Given the description of an element on the screen output the (x, y) to click on. 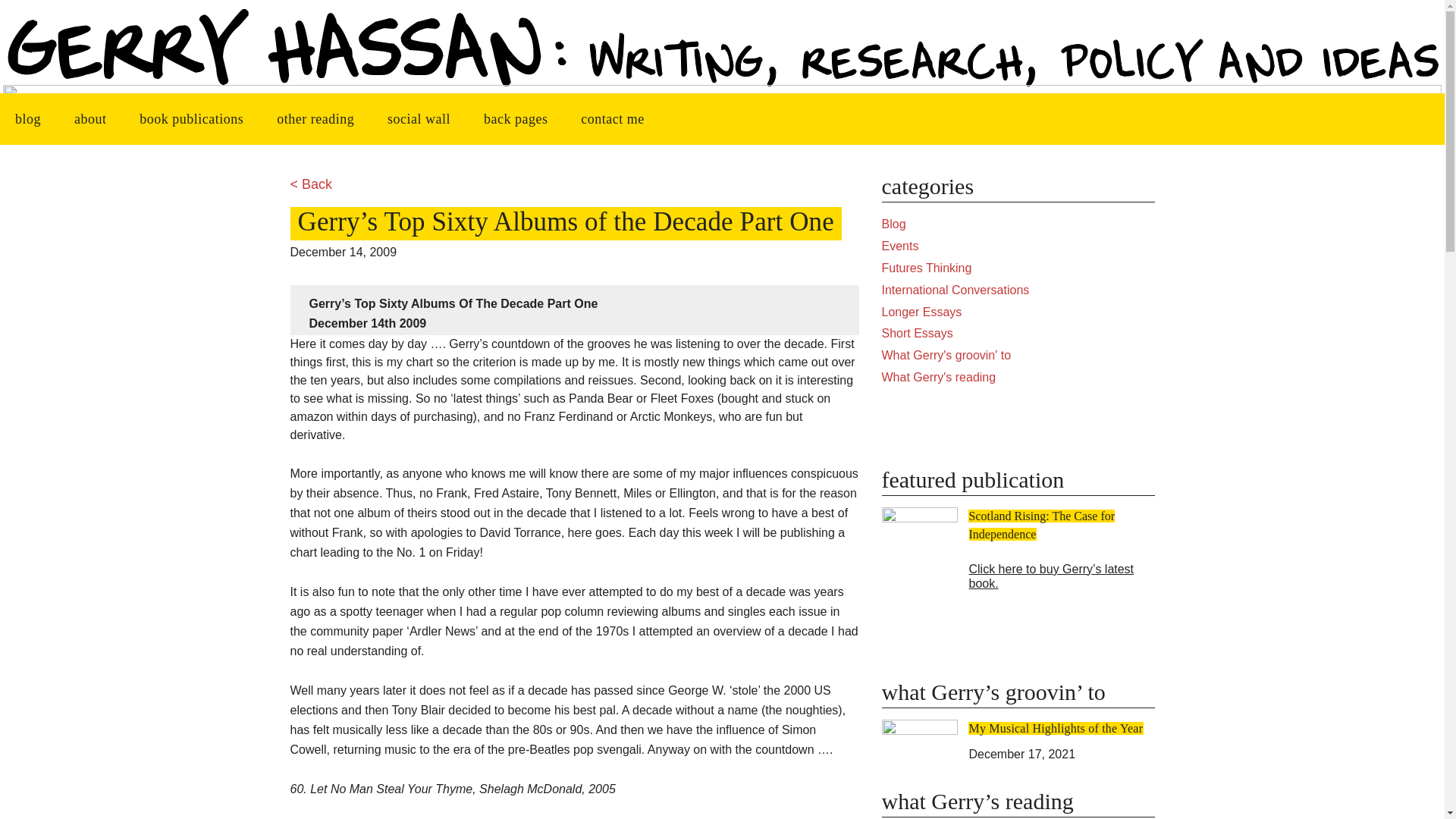
Longer Essays (920, 311)
blog (28, 118)
What Gerry's reading (937, 377)
Futures Thinking (925, 267)
My Musical Highlights of the Year (1055, 727)
back pages (515, 118)
Blog (892, 223)
contact me (612, 118)
International Conversations (954, 289)
Short Essays (916, 332)
about (90, 118)
other reading (315, 118)
Twitter (1087, 424)
social wall (418, 118)
Events (899, 245)
